Given the description of an element on the screen output the (x, y) to click on. 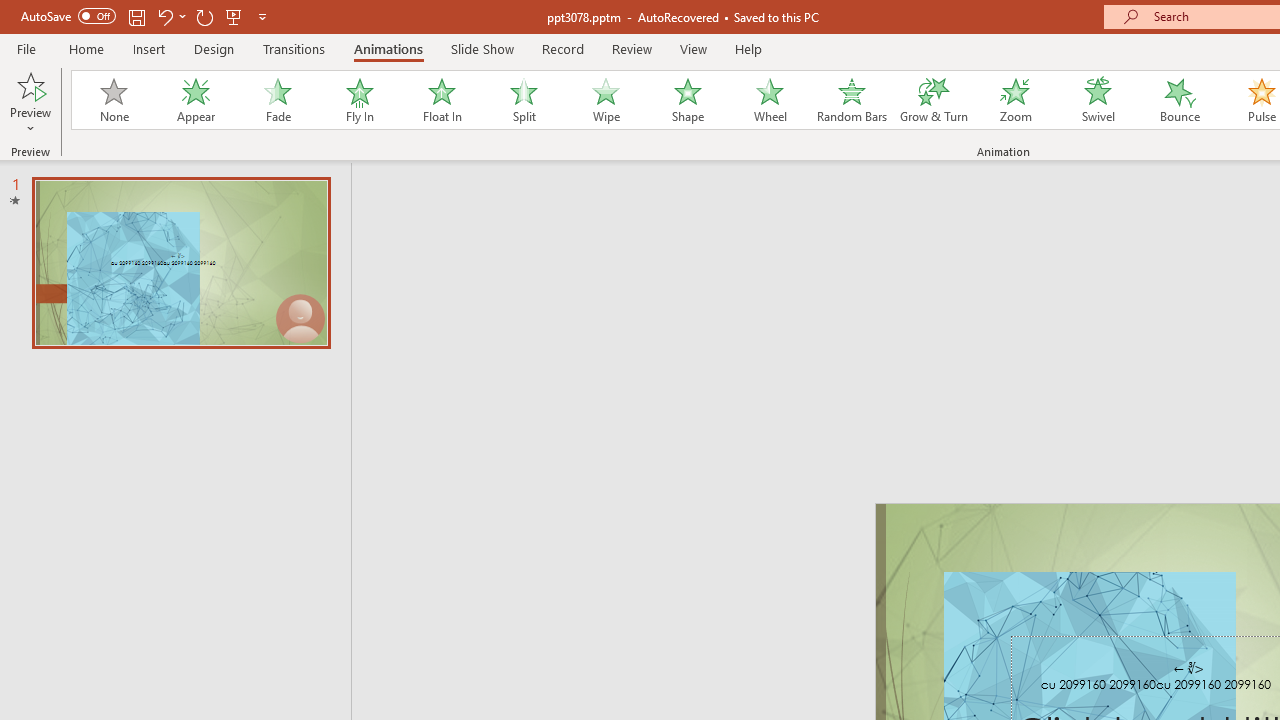
Split (523, 100)
None (113, 100)
Shape (687, 100)
Swivel (1098, 100)
Fade (277, 100)
Float In (441, 100)
Wheel (770, 100)
Fly In (359, 100)
